Given the description of an element on the screen output the (x, y) to click on. 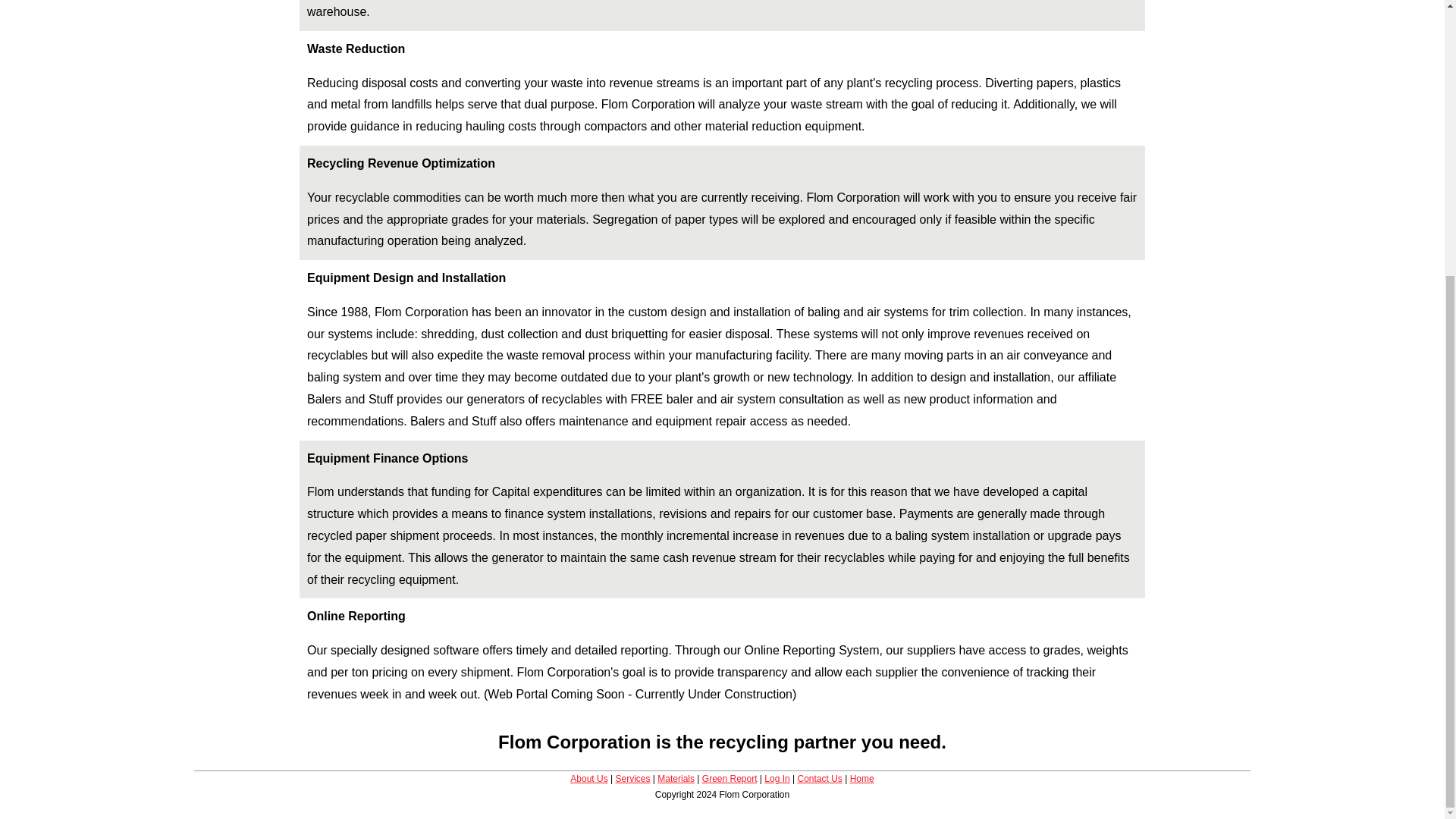
Log In (776, 778)
Contact Us (818, 778)
Materials (676, 778)
About Us (588, 778)
Services (632, 778)
Home (862, 778)
Green Report (729, 778)
